Given the description of an element on the screen output the (x, y) to click on. 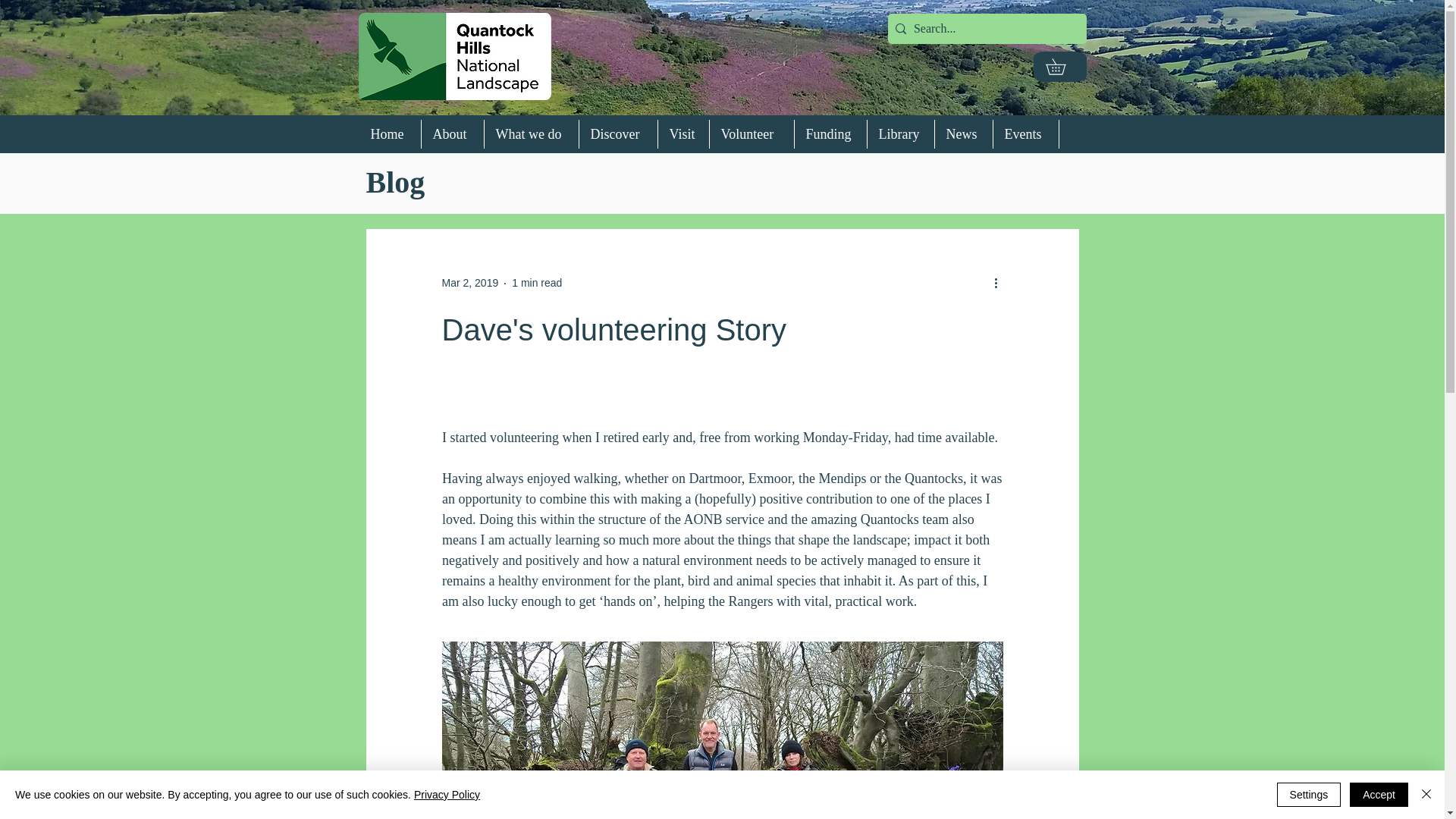
Visit (681, 133)
What we do (530, 133)
Quantock Hills National Landscape (454, 56)
About (451, 133)
1 min read (537, 282)
Funding (829, 133)
Mar 2, 2019 (469, 282)
Discover (617, 133)
Home (389, 133)
Volunteer (750, 133)
